Given the description of an element on the screen output the (x, y) to click on. 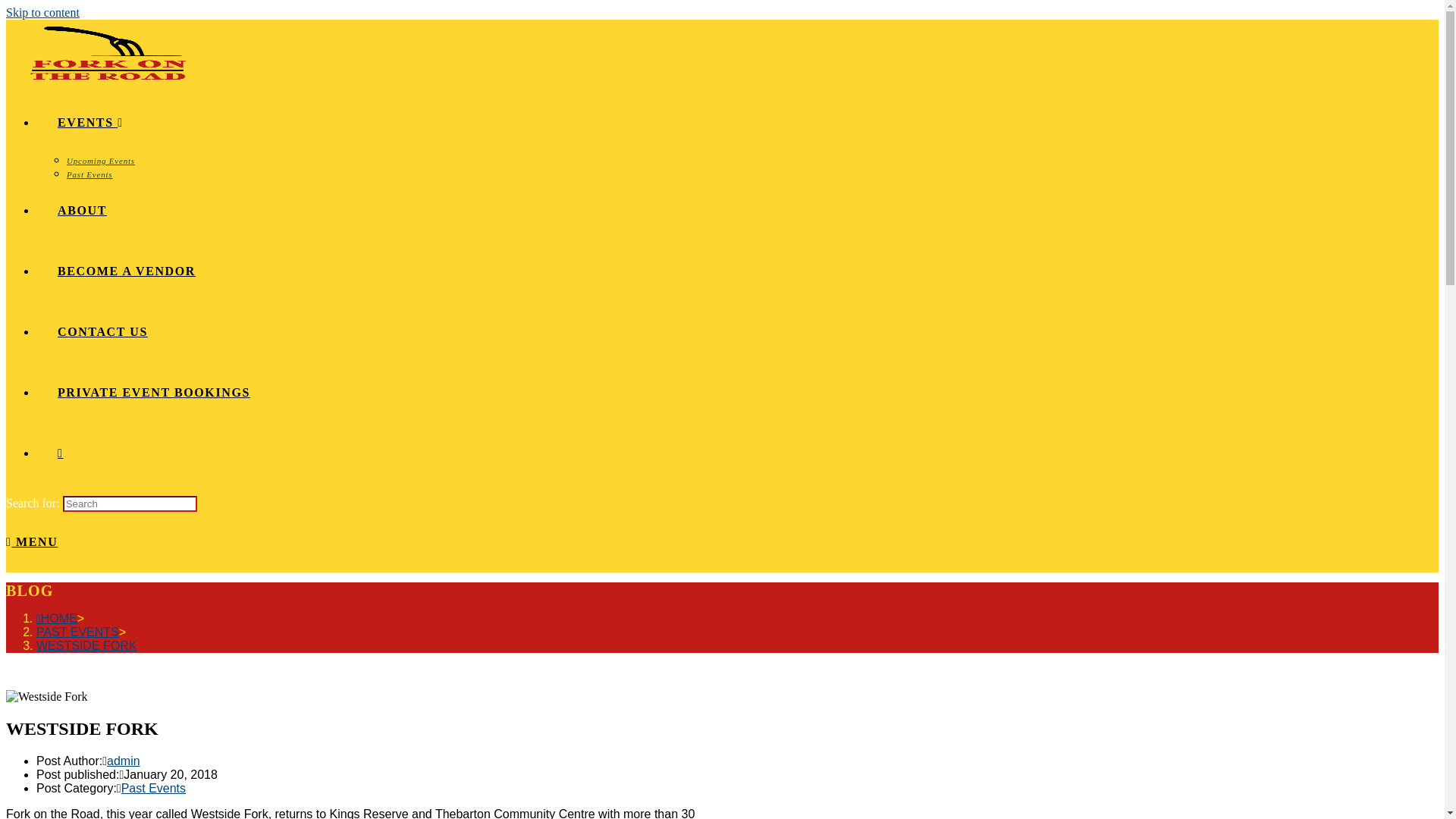
WESTSIDE FORK Element type: text (86, 645)
EVENTS Element type: text (90, 122)
PRIVATE EVENT BOOKINGS Element type: text (153, 391)
BECOME A VENDOR Element type: text (126, 270)
Past Events Element type: text (153, 787)
PAST EVENTS Element type: text (77, 631)
Past Events Element type: text (89, 173)
HOME Element type: text (56, 617)
ABOUT Element type: text (82, 209)
MENU Element type: text (31, 541)
admin Element type: text (123, 760)
CONTACT US Element type: text (102, 331)
Skip to content Element type: text (42, 12)
Upcoming Events Element type: text (100, 160)
